Given the description of an element on the screen output the (x, y) to click on. 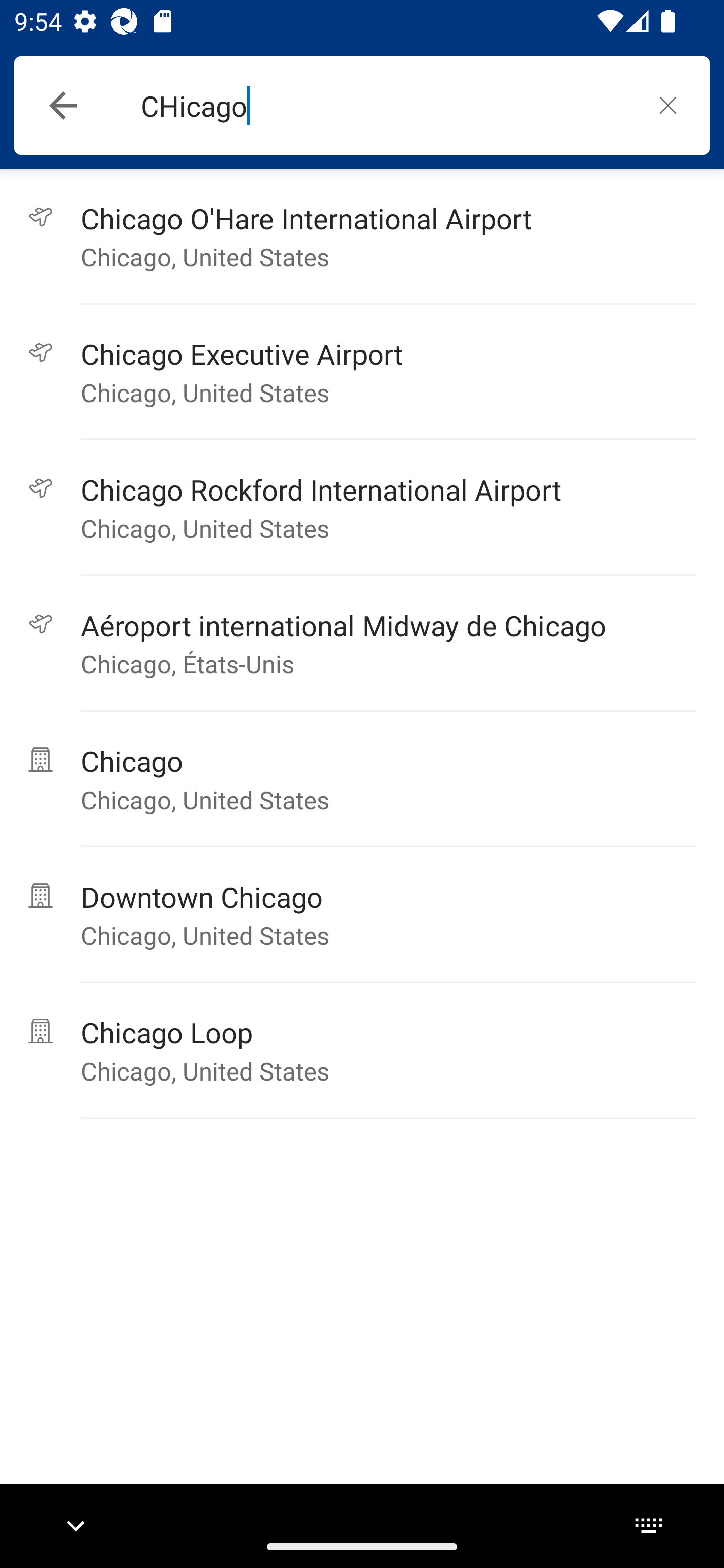
Navigate up (62, 105)
놕 (667, 104)
CHicago (382, 105)
끭 Chicago Executive Airport Chicago, United States (362, 372)
넭 Chicago Chicago, United States (362, 778)
넭 Downtown Chicago Chicago, United States (362, 914)
넭 Chicago Loop Chicago, United States (362, 1050)
